Given the description of an element on the screen output the (x, y) to click on. 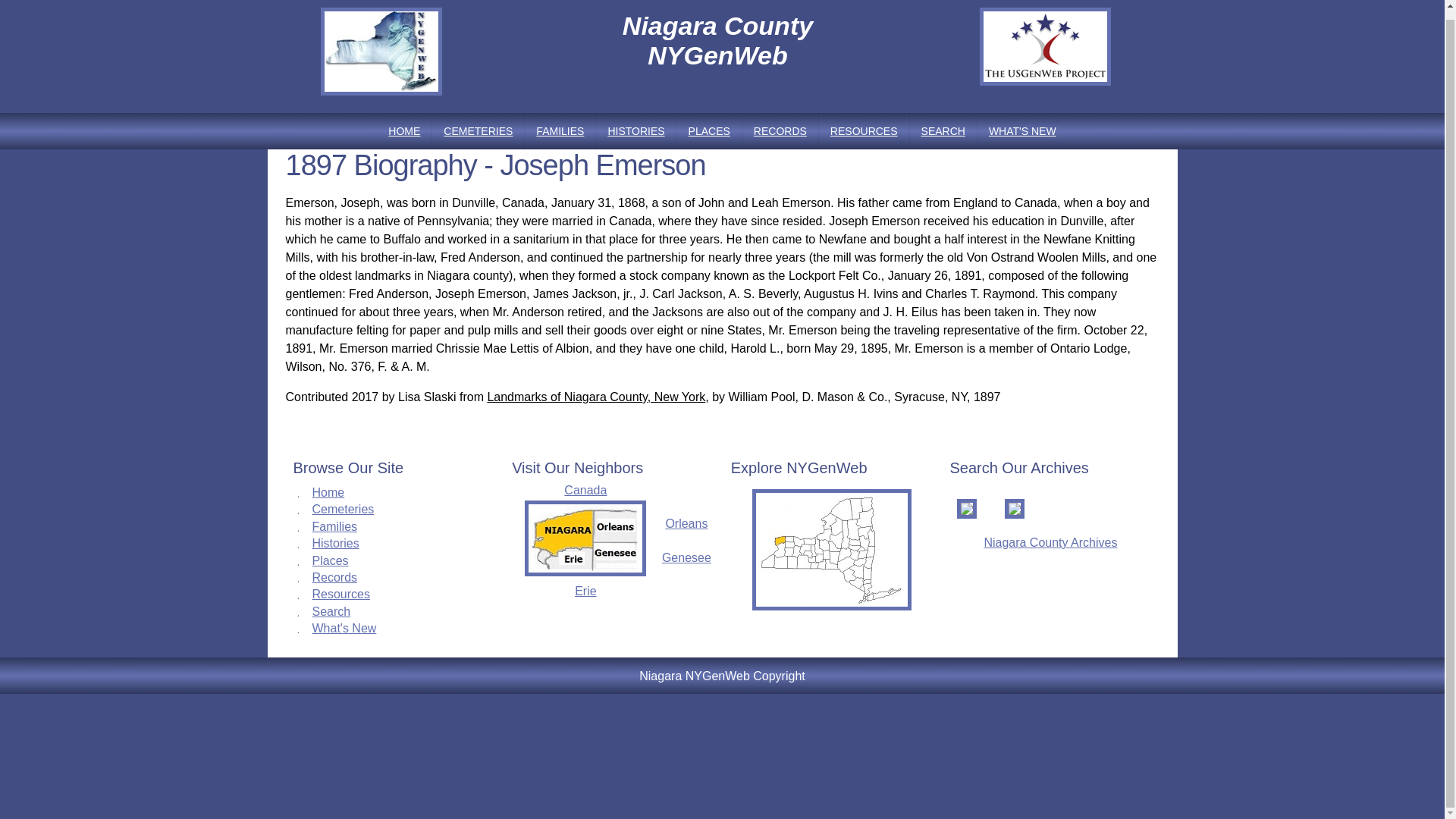
CEMETERIES (478, 131)
Erie (585, 590)
Records (335, 576)
Histories (336, 543)
RECORDS (780, 131)
Canada (585, 490)
Genesee (686, 557)
Resources (341, 594)
FAMILIES (559, 131)
RESOURCES (863, 131)
Orleans (686, 522)
Home (329, 492)
PLACES (709, 131)
HOME (403, 131)
Niagara County Archives (1050, 542)
